Given the description of an element on the screen output the (x, y) to click on. 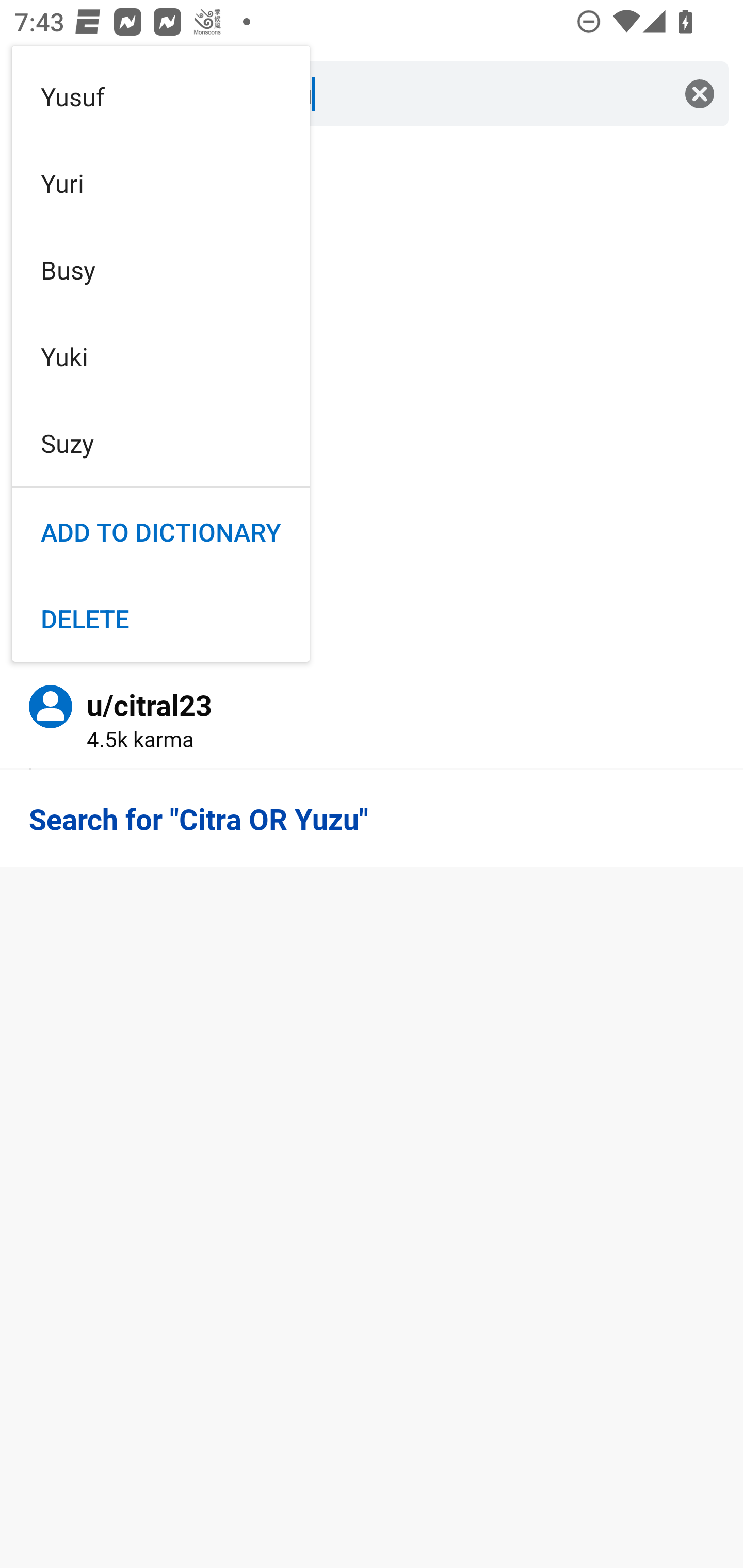
Yusuf (160, 96)
Yuri (160, 182)
Busy (160, 269)
Yuki (160, 356)
Suzy (160, 442)
ADD TO DICTIONARY (160, 532)
DELETE (160, 618)
